Given the description of an element on the screen output the (x, y) to click on. 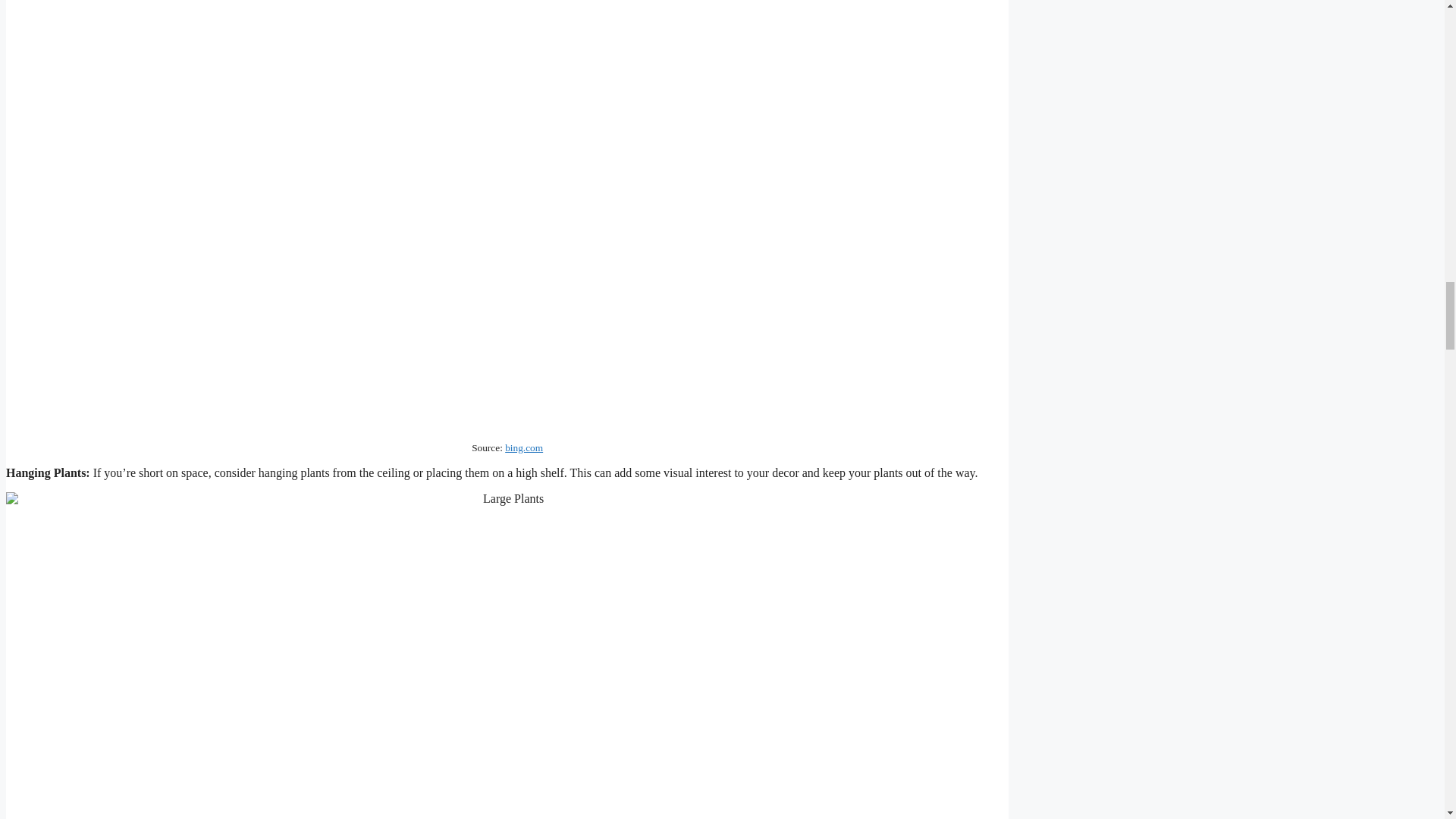
bing.com (524, 447)
